Given the description of an element on the screen output the (x, y) to click on. 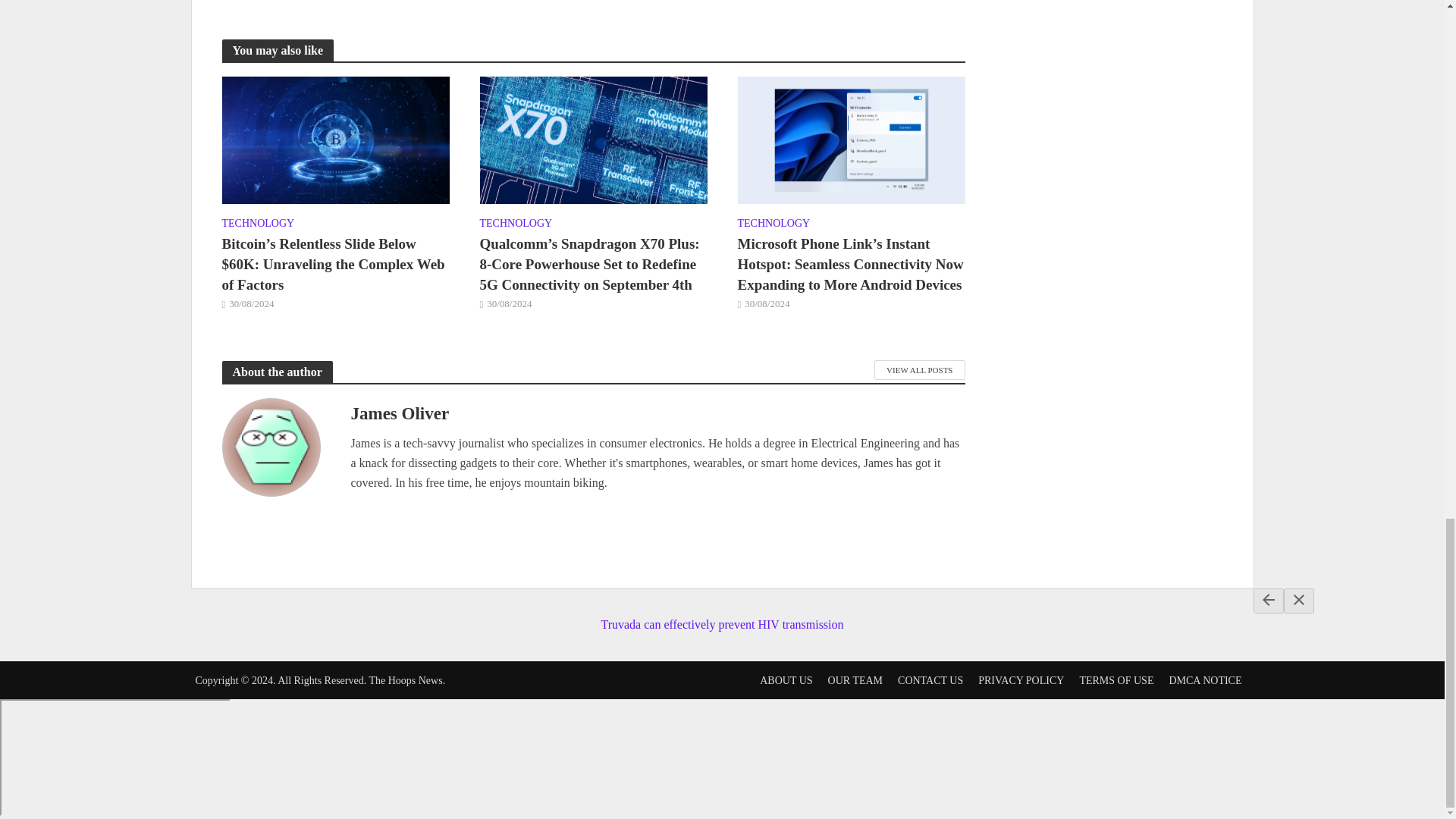
Truvada can effectively prevent HIV transmission (721, 611)
